Given the description of an element on the screen output the (x, y) to click on. 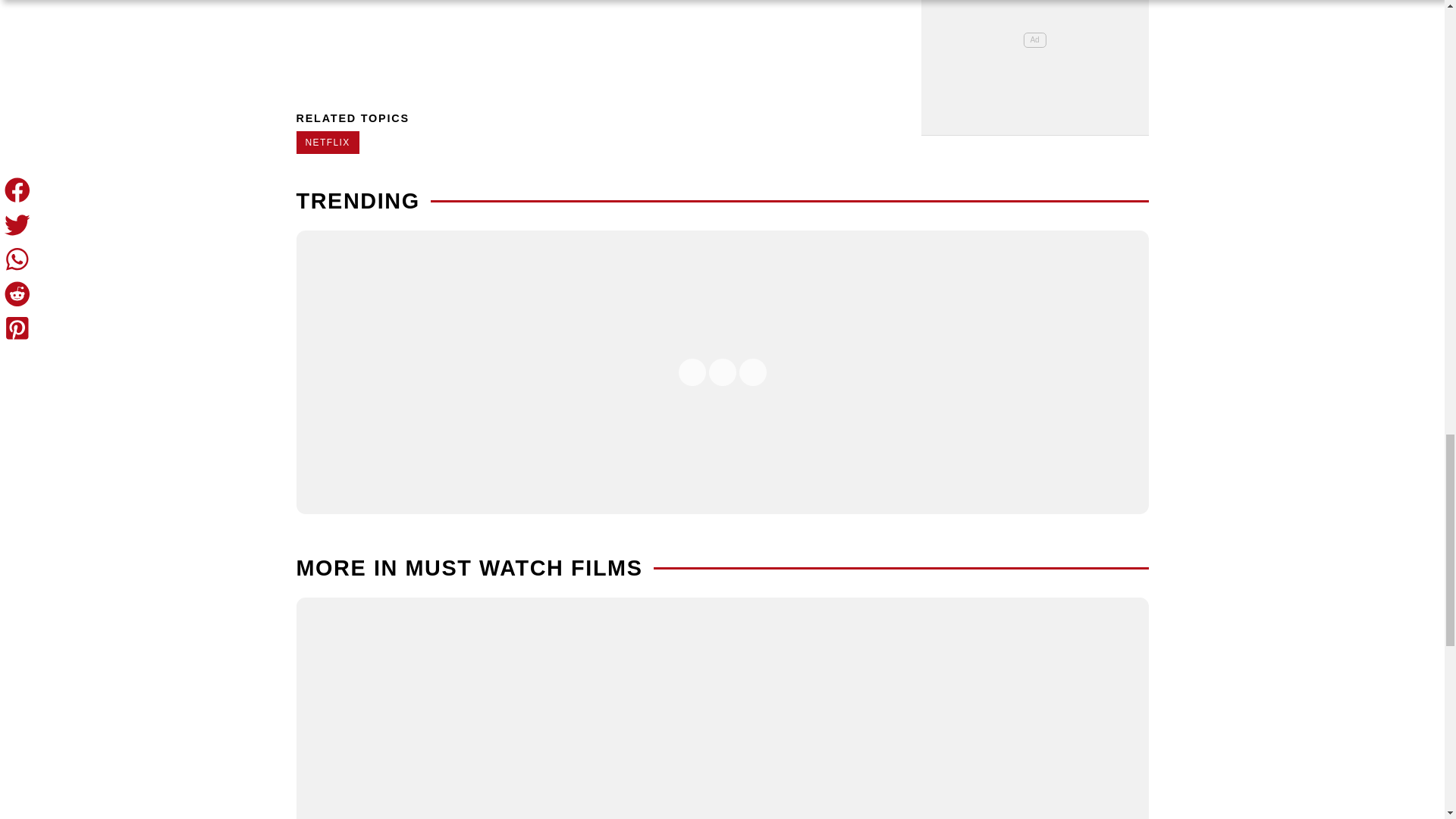
MORE IN MUST WATCH FILMS (468, 567)
TRENDING (357, 200)
NETFLIX (326, 142)
